Given the description of an element on the screen output the (x, y) to click on. 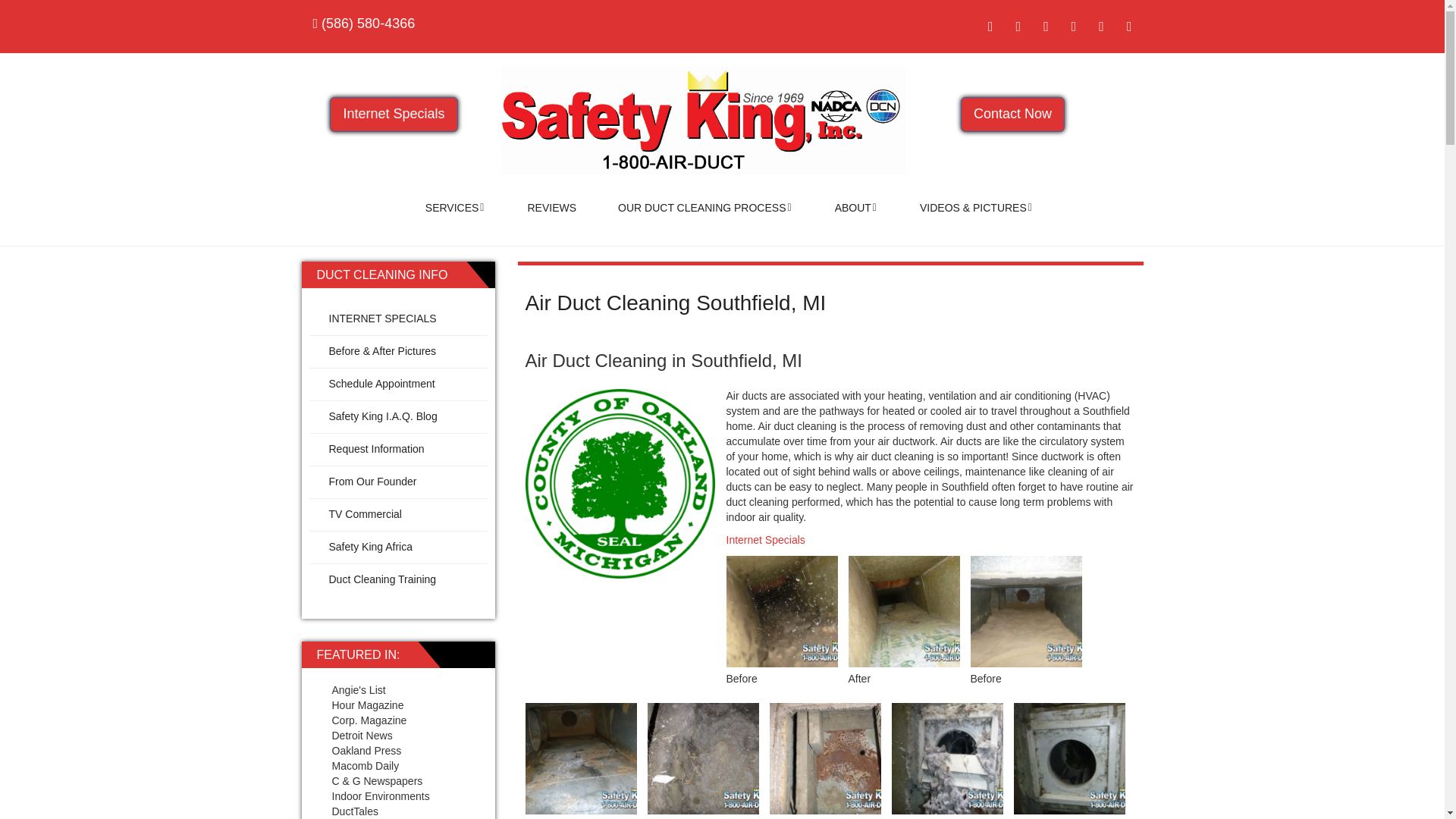
REVIEWS (551, 207)
YouTube (1045, 26)
OUR DUCT CLEANING PROCESS (705, 207)
Contact Now (1012, 114)
Google (1128, 26)
Internet Specials (393, 114)
LinkedIn (1073, 26)
Email (1101, 26)
SERVICES (455, 207)
Internet Specials (765, 539)
Twitter (1018, 26)
Air Duct Cleaning Southfield, MI (674, 302)
Facebook (990, 26)
ABOUT (855, 207)
